Given the description of an element on the screen output the (x, y) to click on. 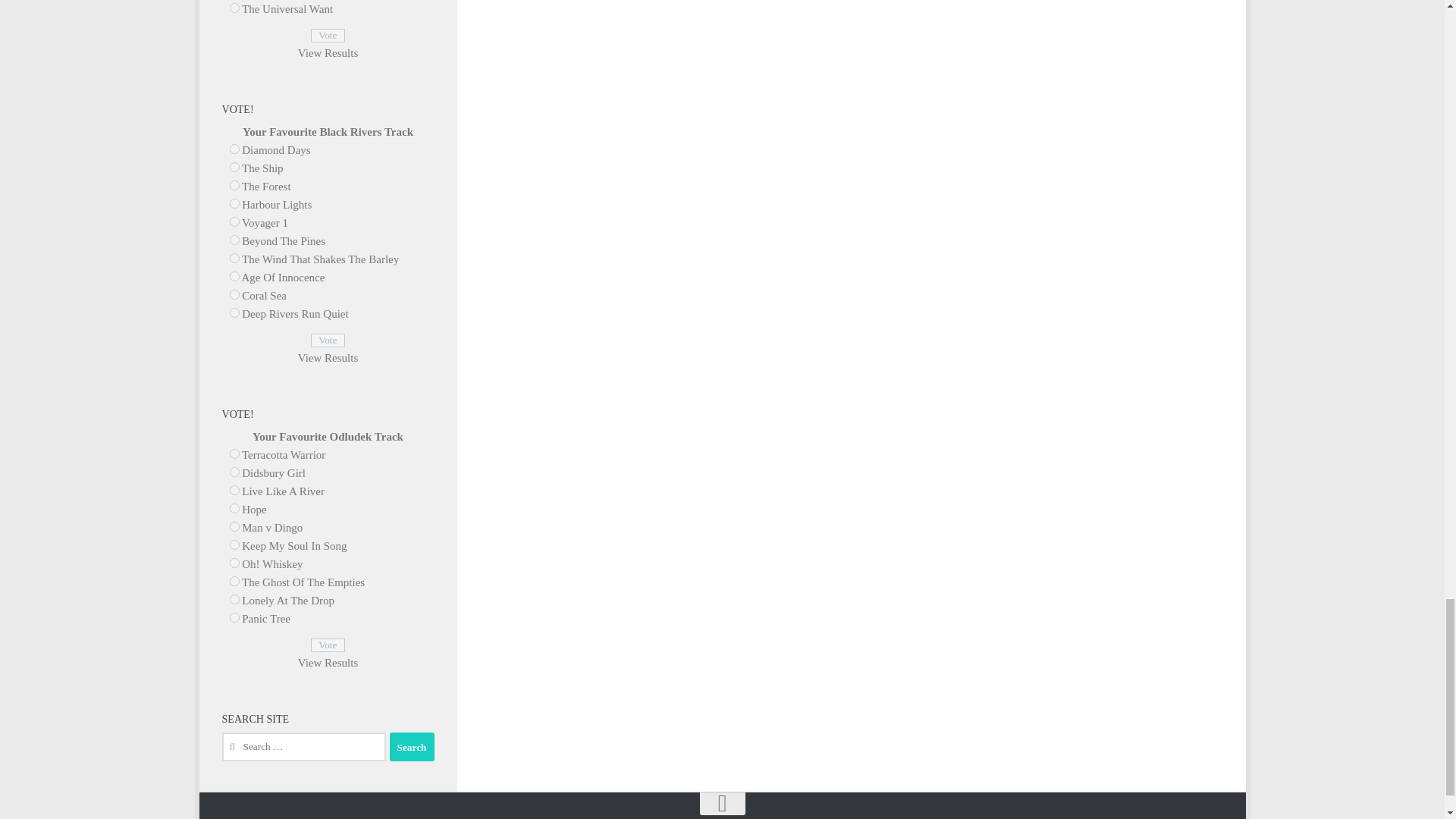
Search (411, 746)
View Results Of This Poll (328, 52)
View Results Of This Poll (328, 357)
View Results Of This Poll (328, 662)
